Given the description of an element on the screen output the (x, y) to click on. 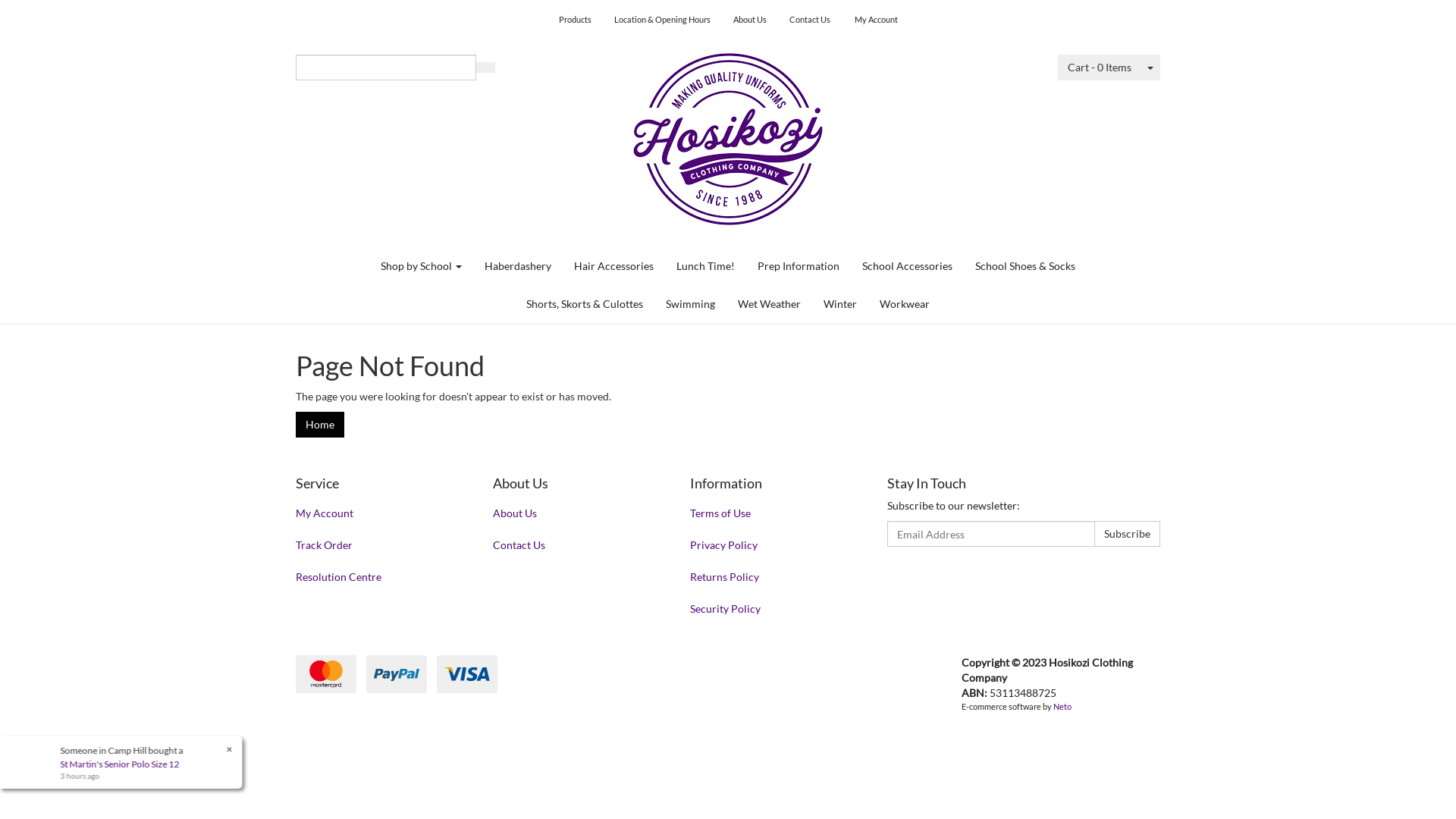
Returns Policy Element type: text (771, 576)
Security Policy Element type: text (771, 608)
Haberdashery Element type: text (517, 266)
Resolution Centre Element type: text (377, 576)
Location & Opening Hours Element type: text (661, 19)
Swimming Element type: text (690, 304)
Lunch Time! Element type: text (705, 266)
School Accessories Element type: text (906, 266)
About Us Element type: text (574, 513)
Hosikozi Clothing Company Element type: hover (727, 133)
Shop by School Element type: text (421, 266)
Winter Element type: text (840, 304)
Shorts, Skorts & Culottes Element type: text (584, 304)
Subscribe Element type: text (1127, 533)
My Account Element type: text (377, 513)
Hair Accessories Element type: text (613, 266)
Wet Weather Element type: text (769, 304)
Workwear Element type: text (904, 304)
About Us Element type: text (749, 19)
Prep Information Element type: text (798, 266)
Products Element type: text (574, 19)
My Account Element type: text (876, 19)
Contact Us Element type: text (809, 19)
Privacy Policy Element type: text (771, 545)
Cart - 0 Items Element type: text (1099, 67)
School Shoes & Socks Element type: text (1024, 266)
Contact Us Element type: text (574, 545)
Home Element type: text (319, 424)
Neto Element type: text (1061, 706)
Terms of Use Element type: text (771, 513)
Search Element type: text (484, 67)
Track Order Element type: text (377, 545)
